Given the description of an element on the screen output the (x, y) to click on. 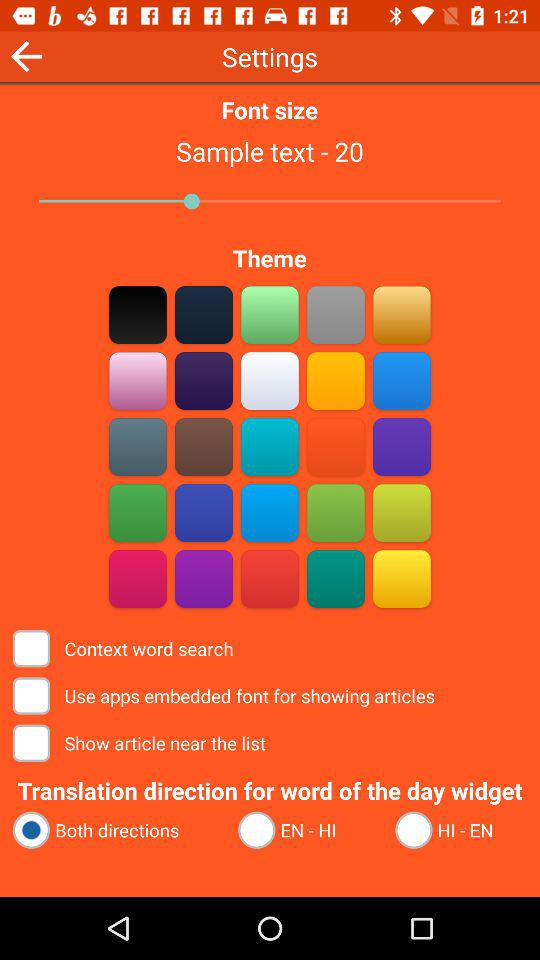
select red theme (137, 578)
